Given the description of an element on the screen output the (x, y) to click on. 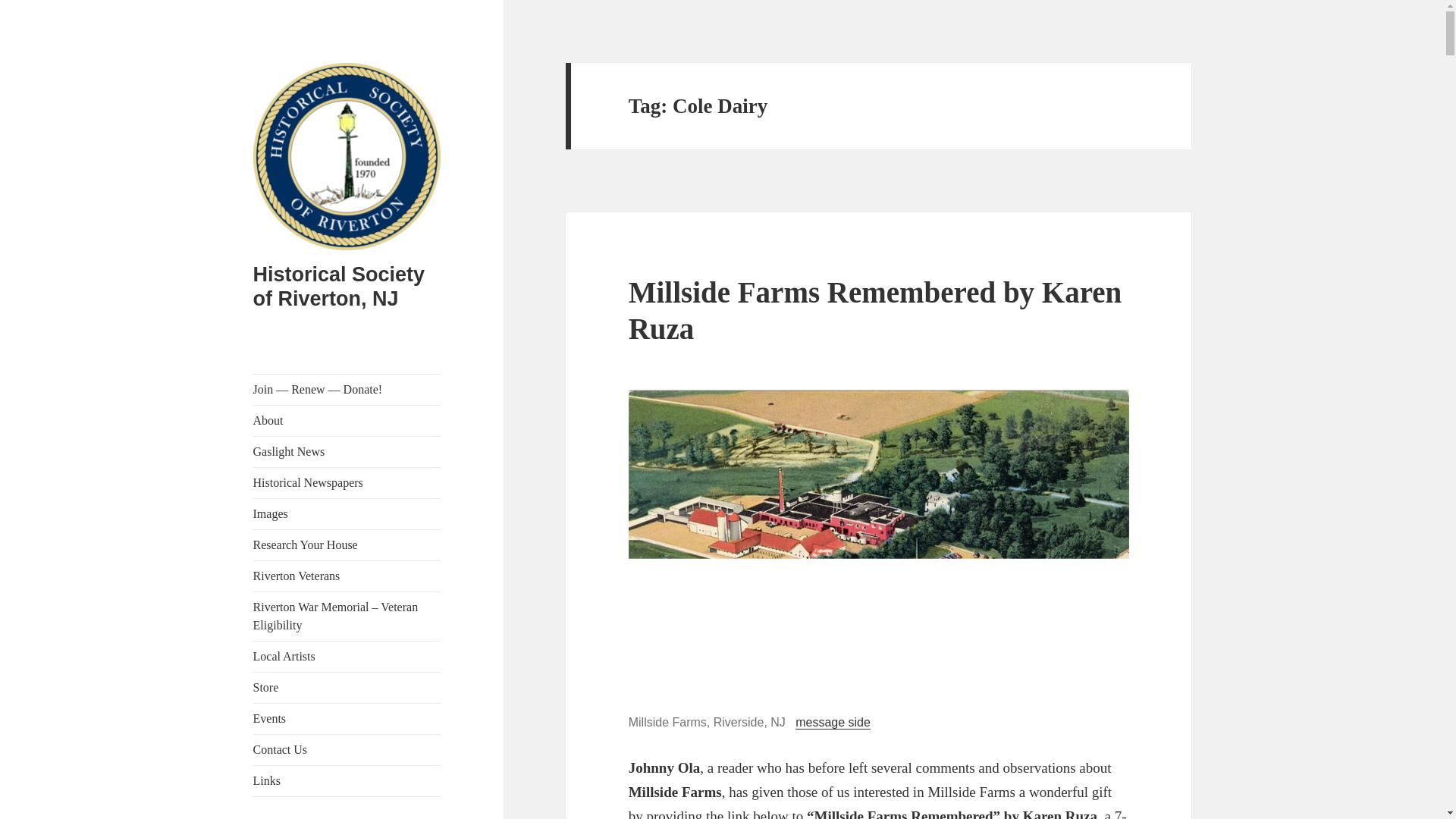
Gaslight News (347, 451)
About (347, 420)
Historical Society of Riverton, NJ (339, 286)
Millside Farms Remembered by Karen Ruza (875, 310)
Images (347, 513)
Riverton Veterans (347, 576)
Events (347, 718)
Research Your House (347, 544)
Local Artists (347, 656)
message side (832, 722)
